Given the description of an element on the screen output the (x, y) to click on. 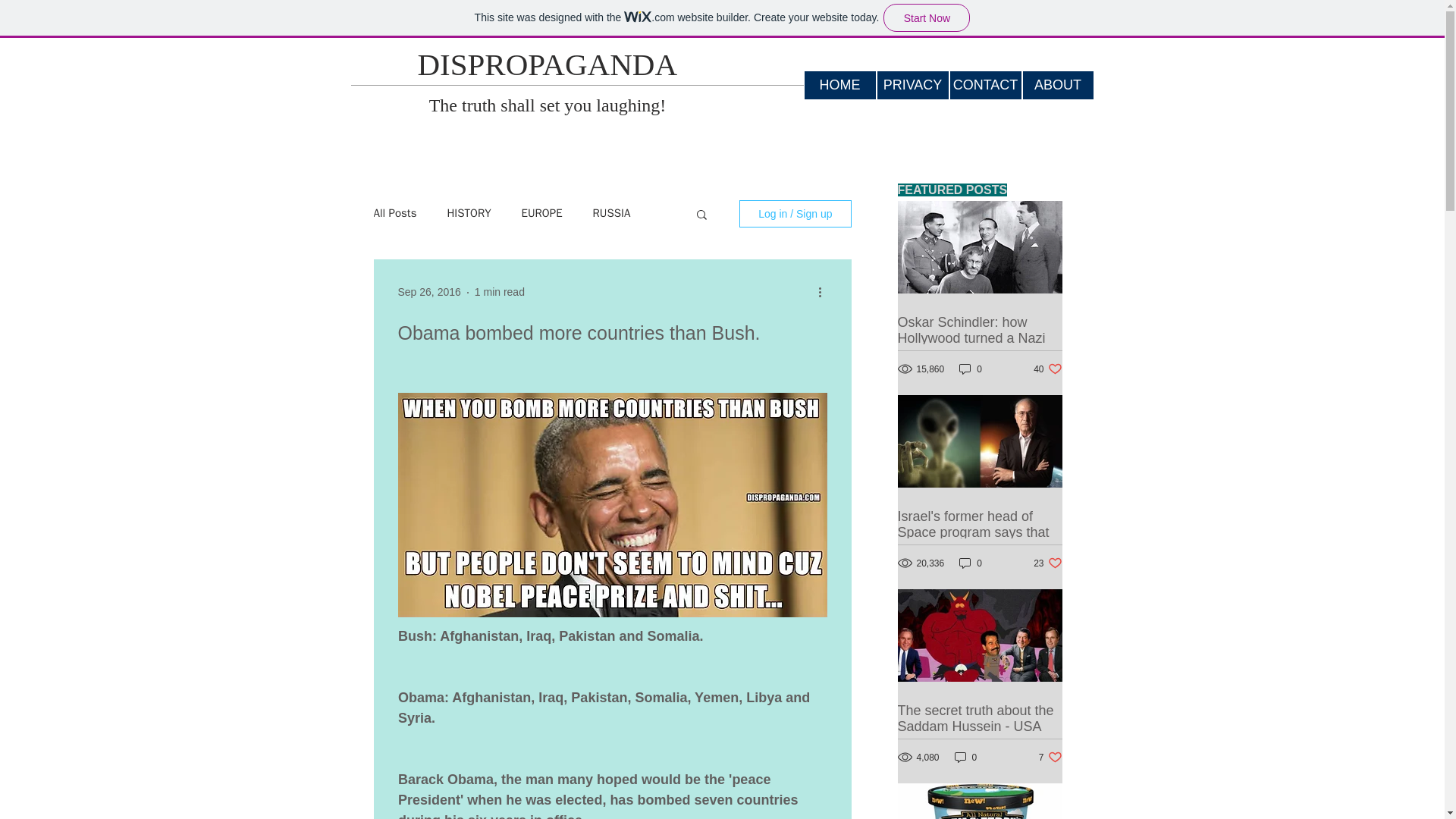
0 (1047, 563)
PRIVACY (971, 563)
CONTACT (911, 85)
0 (1047, 368)
HOME (984, 85)
HISTORY (965, 757)
The secret truth about the Saddam Hussein - USA relationship (839, 85)
Oskar Schindler: how Hollywood turned a Nazi into a hero (468, 213)
